Given the description of an element on the screen output the (x, y) to click on. 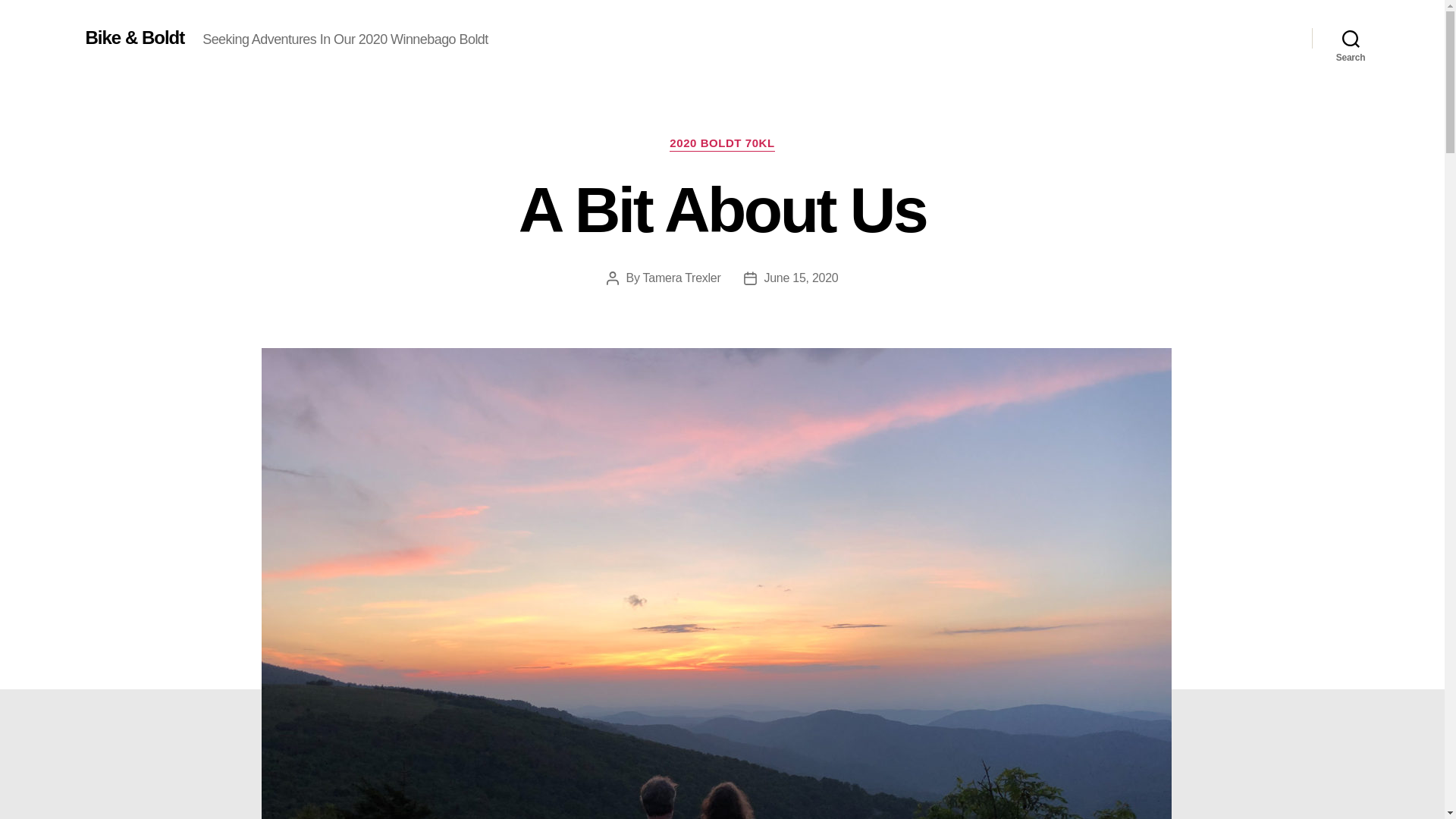
June 15, 2020 (801, 277)
Tamera Trexler (681, 277)
2020 BOLDT 70KL (721, 143)
Search (1350, 37)
